Given the description of an element on the screen output the (x, y) to click on. 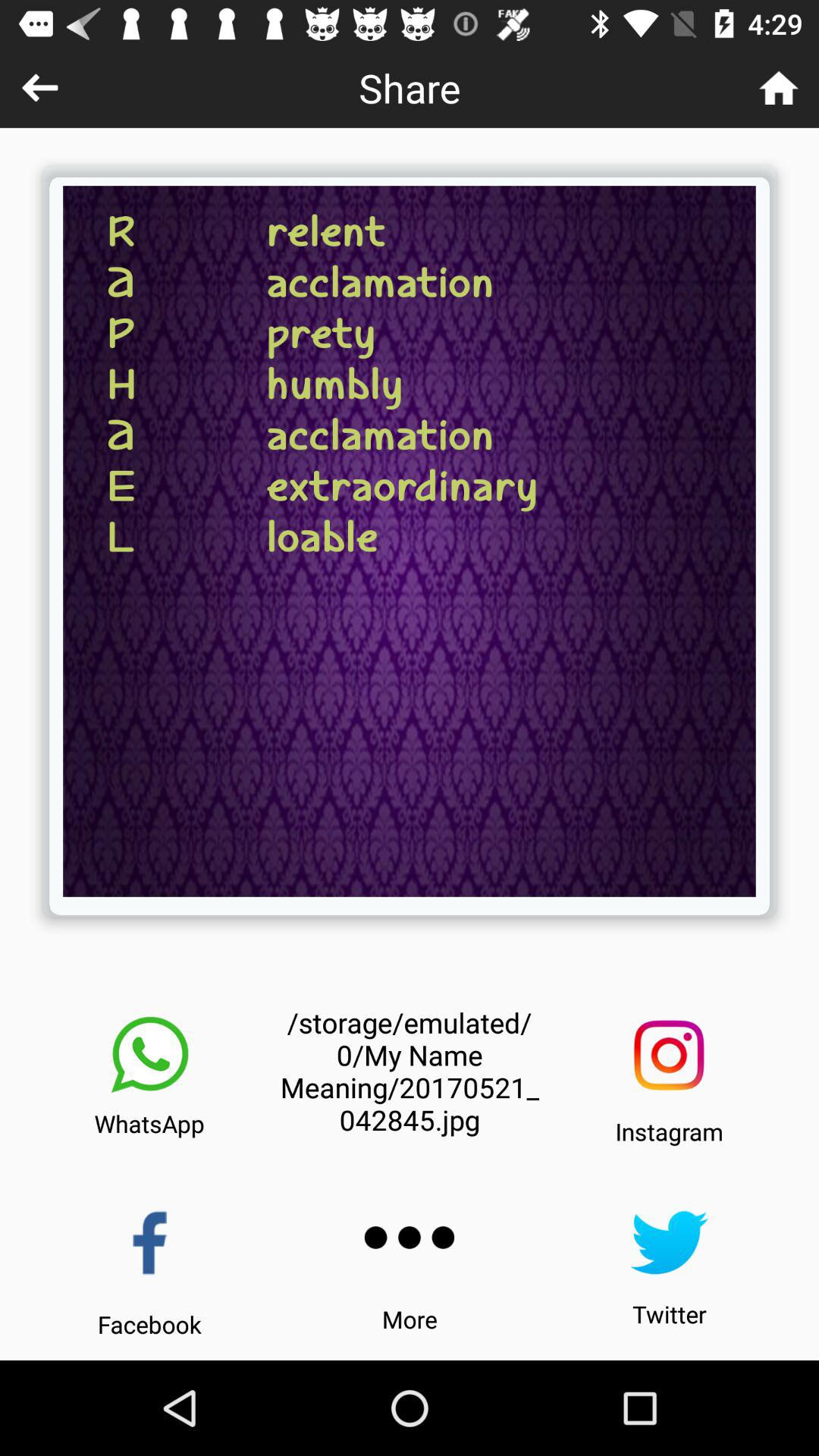
go back to previous page (39, 87)
